Given the description of an element on the screen output the (x, y) to click on. 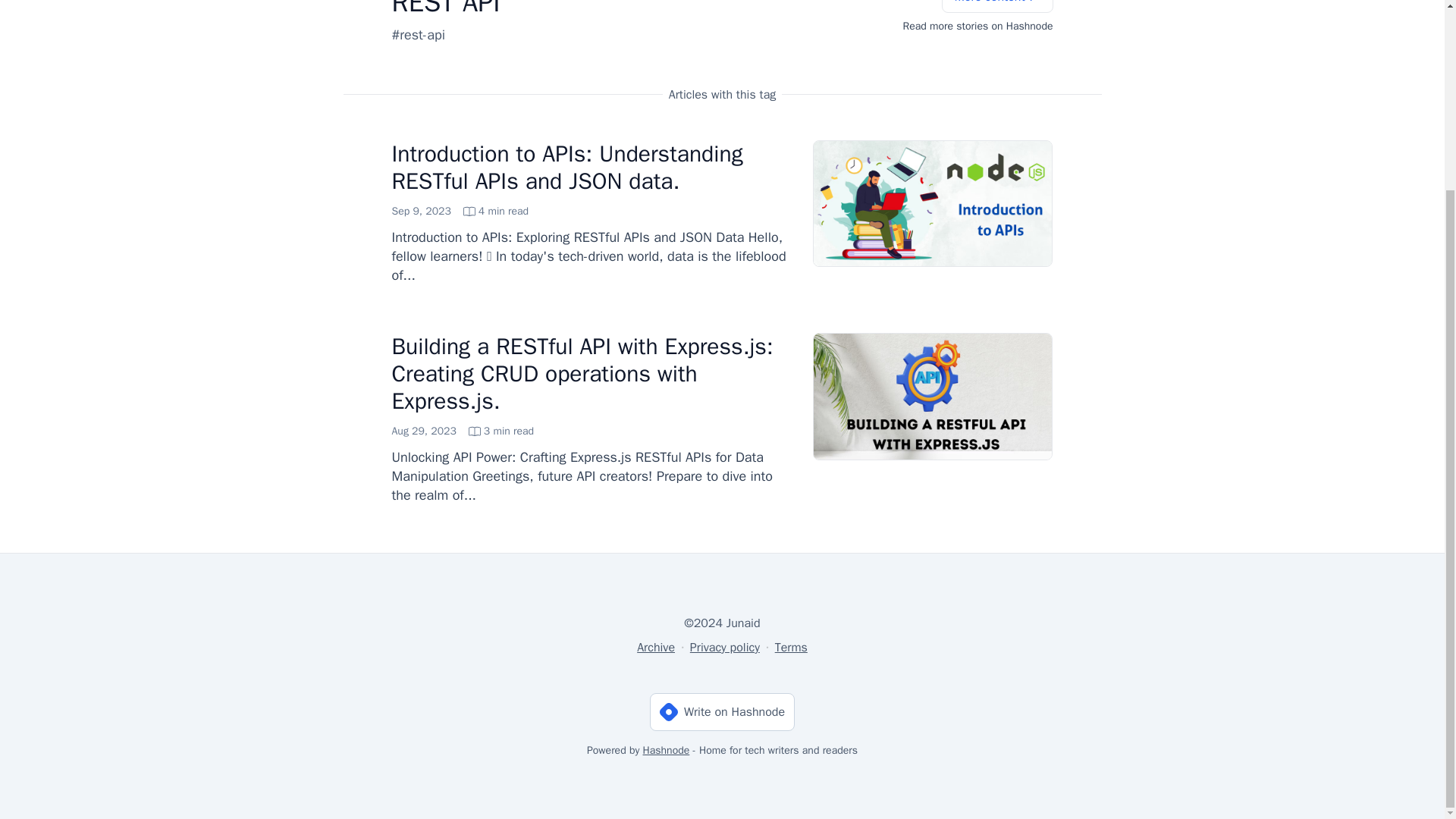
Hashnode (666, 749)
More content (997, 6)
Write on Hashnode (721, 711)
Archive (656, 647)
Terms (791, 647)
Privacy policy (459, 211)
